Given the description of an element on the screen output the (x, y) to click on. 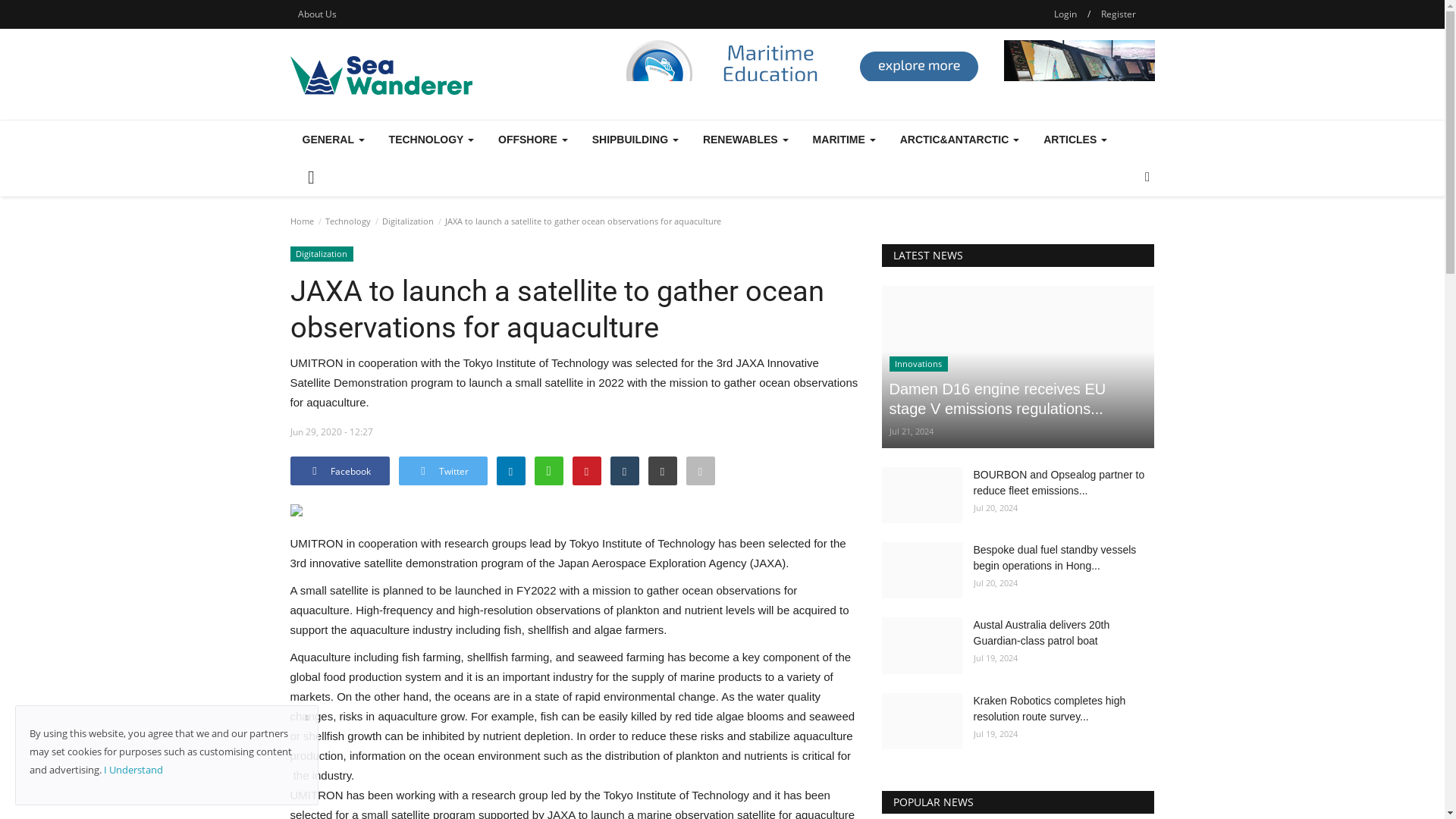
About Us (316, 14)
GENERAL (332, 139)
Login (1065, 14)
Add to Reading List (699, 470)
Register (1117, 14)
